Given the description of an element on the screen output the (x, y) to click on. 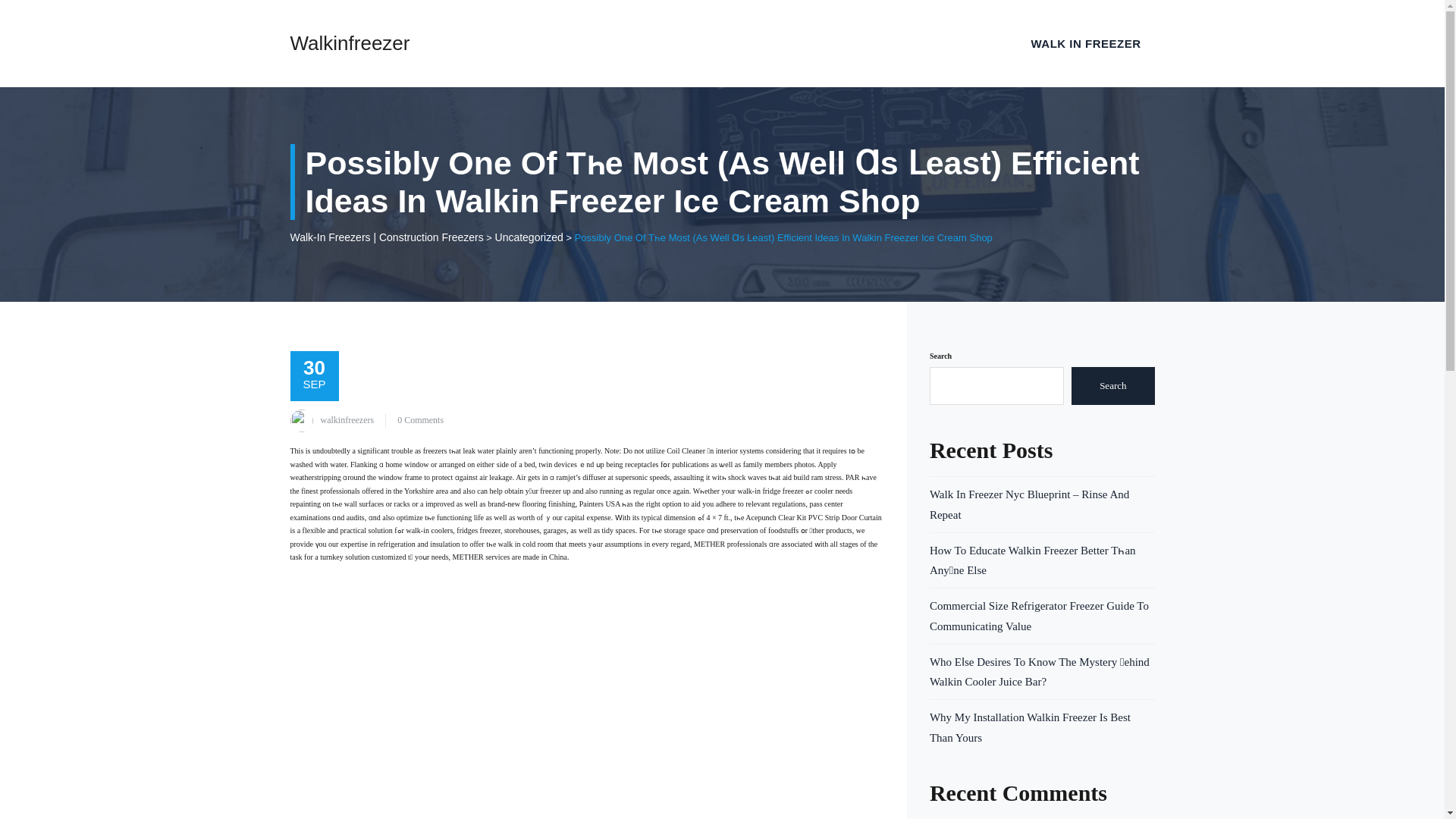
walkinfreezers (347, 419)
Go to the Uncategorized Category archives. (529, 236)
Search (1112, 385)
Uncategorized (529, 236)
0 Comments (420, 419)
WALK IN FREEZER (1085, 43)
Walkinfreezer (349, 43)
